Given the description of an element on the screen output the (x, y) to click on. 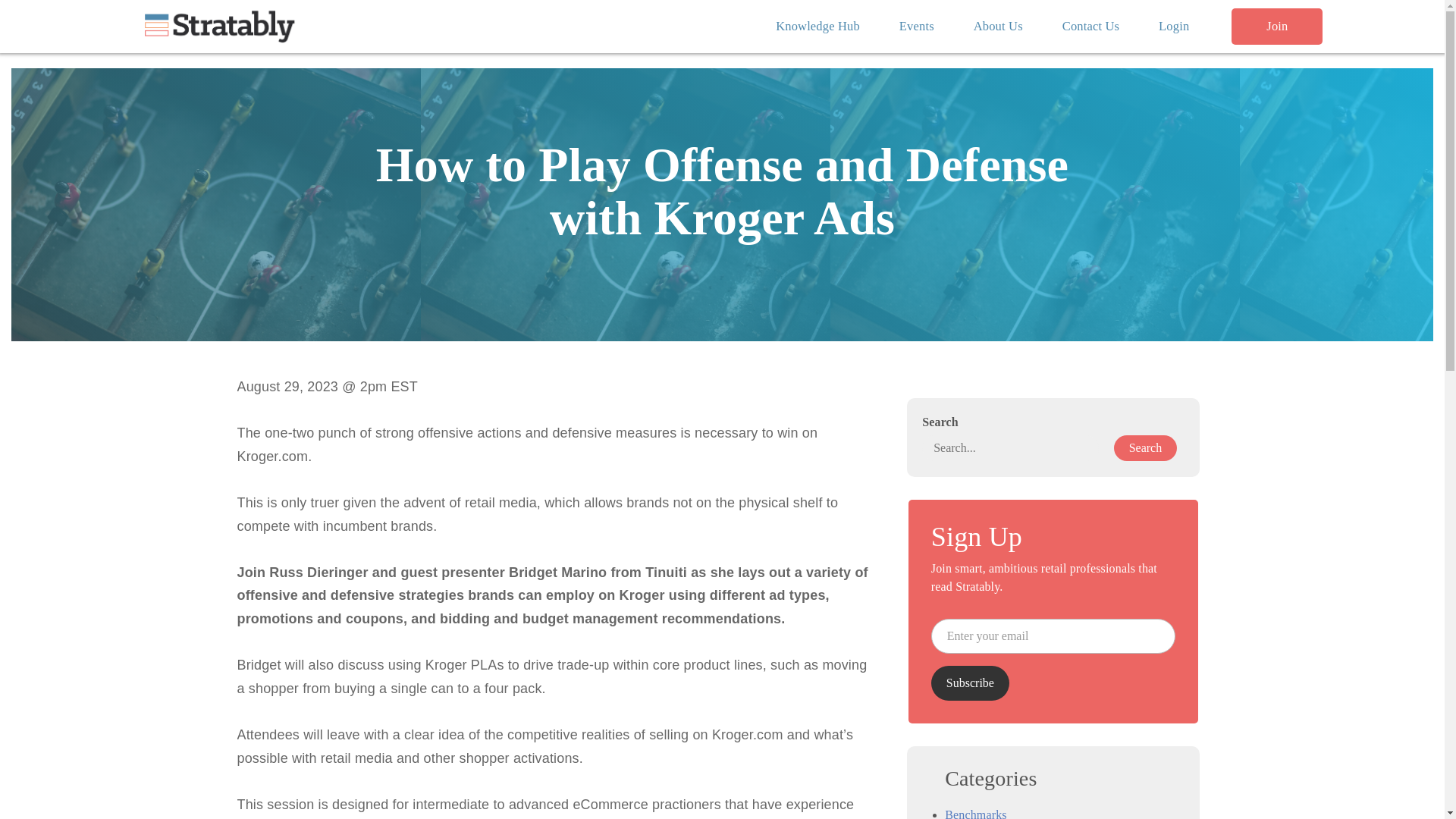
Subscribe (970, 683)
Contact Us (1090, 26)
Subscribe (970, 683)
About Us (997, 26)
Search (1145, 447)
Login (1173, 26)
Events (916, 26)
Knowledge Hub (817, 26)
Join (1276, 26)
Benchmarks (975, 813)
